Given the description of an element on the screen output the (x, y) to click on. 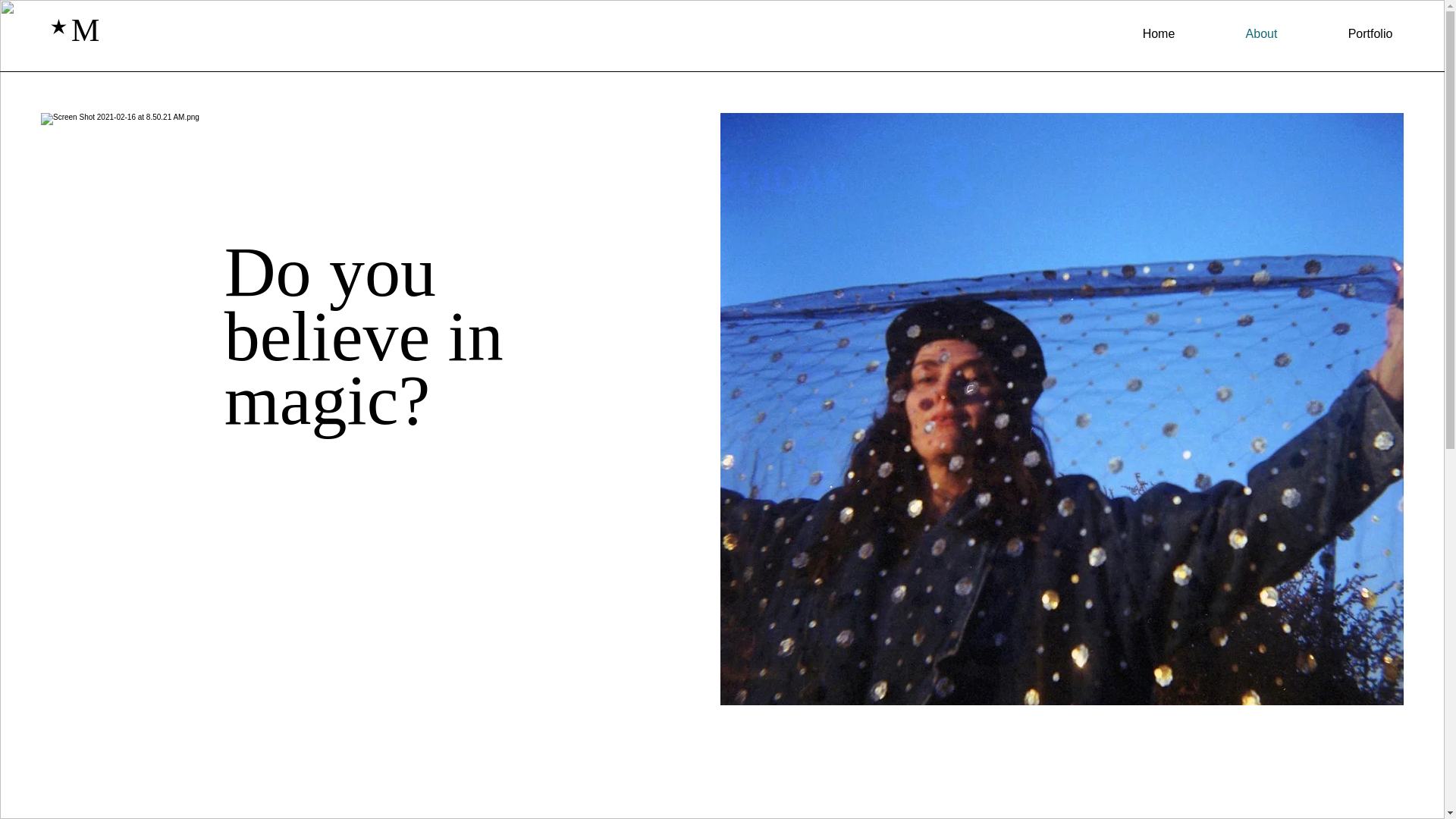
Home (1157, 34)
About (1261, 34)
Portfolio (1370, 34)
